Given the description of an element on the screen output the (x, y) to click on. 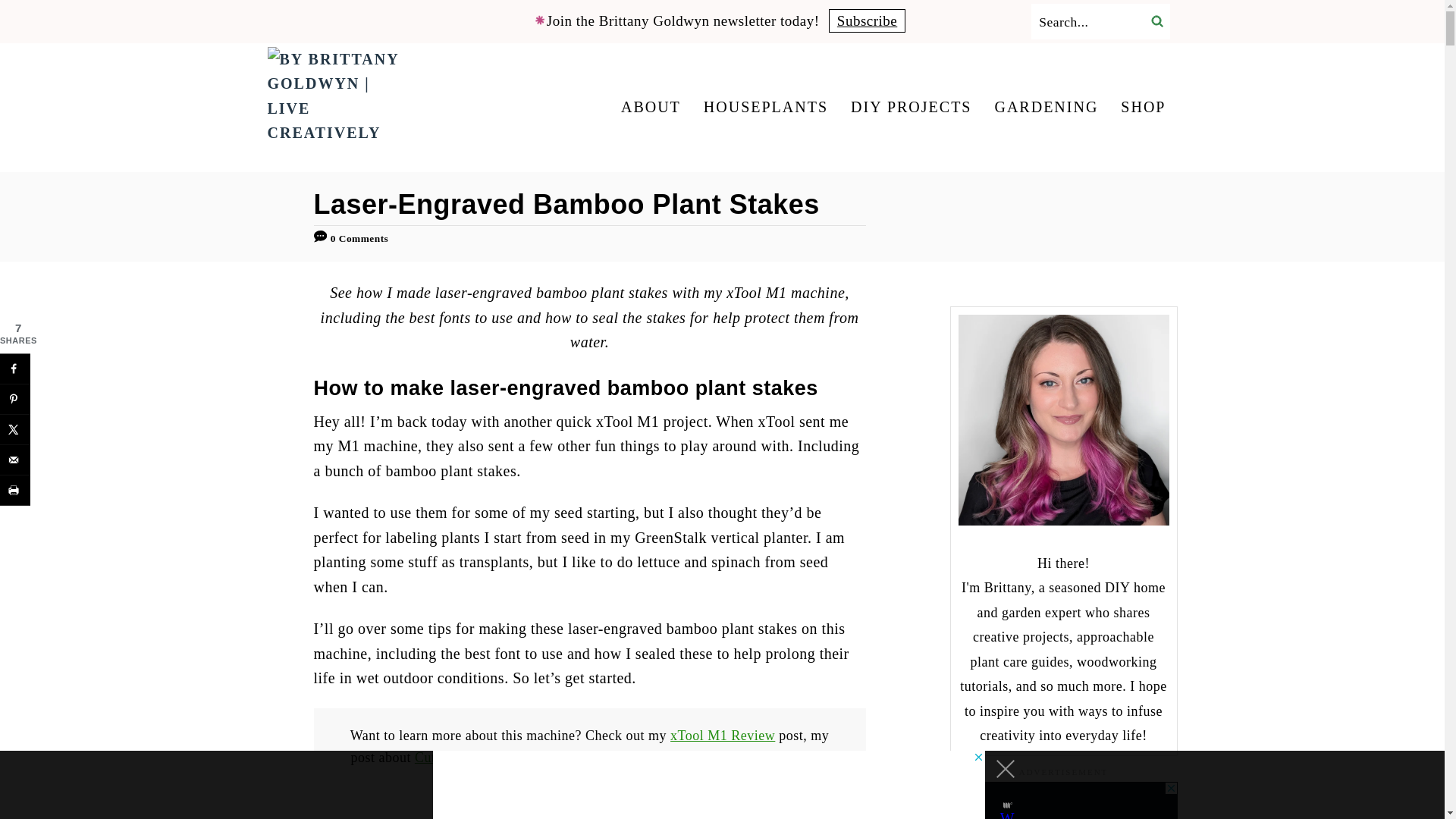
Cutting Acrylic With the xTool M1 (517, 757)
ABOUT (650, 107)
DIY PROJECTS (910, 107)
GARDENING (1046, 107)
Subscribe (866, 20)
SHOP (1143, 107)
16 Free Houseplant Trellis SVG Files (652, 768)
HOUSEPLANTS (765, 107)
xTool M1 Review (721, 735)
